Given the description of an element on the screen output the (x, y) to click on. 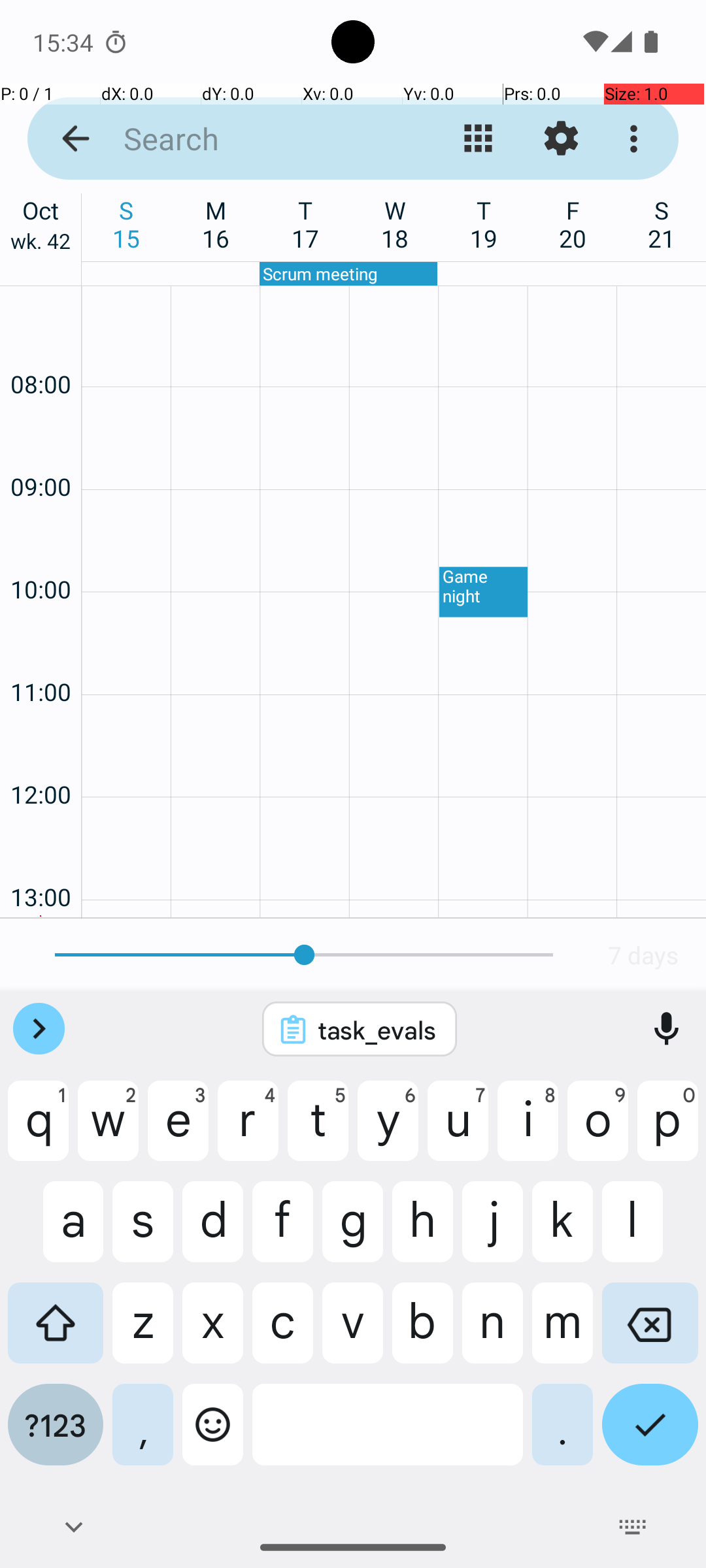
wk. 42 Element type: android.widget.TextView (40, 243)
M
16 Element type: android.widget.TextView (215, 223)
T
17 Element type: android.widget.TextView (305, 223)
W
18 Element type: android.widget.TextView (394, 223)
T
19 Element type: android.widget.TextView (483, 223)
F
20 Element type: android.widget.TextView (572, 223)
S
21 Element type: android.widget.TextView (661, 223)
Scrum meeting Element type: android.widget.TextView (348, 273)
Game night Element type: android.widget.TextView (483, 592)
